Given the description of an element on the screen output the (x, y) to click on. 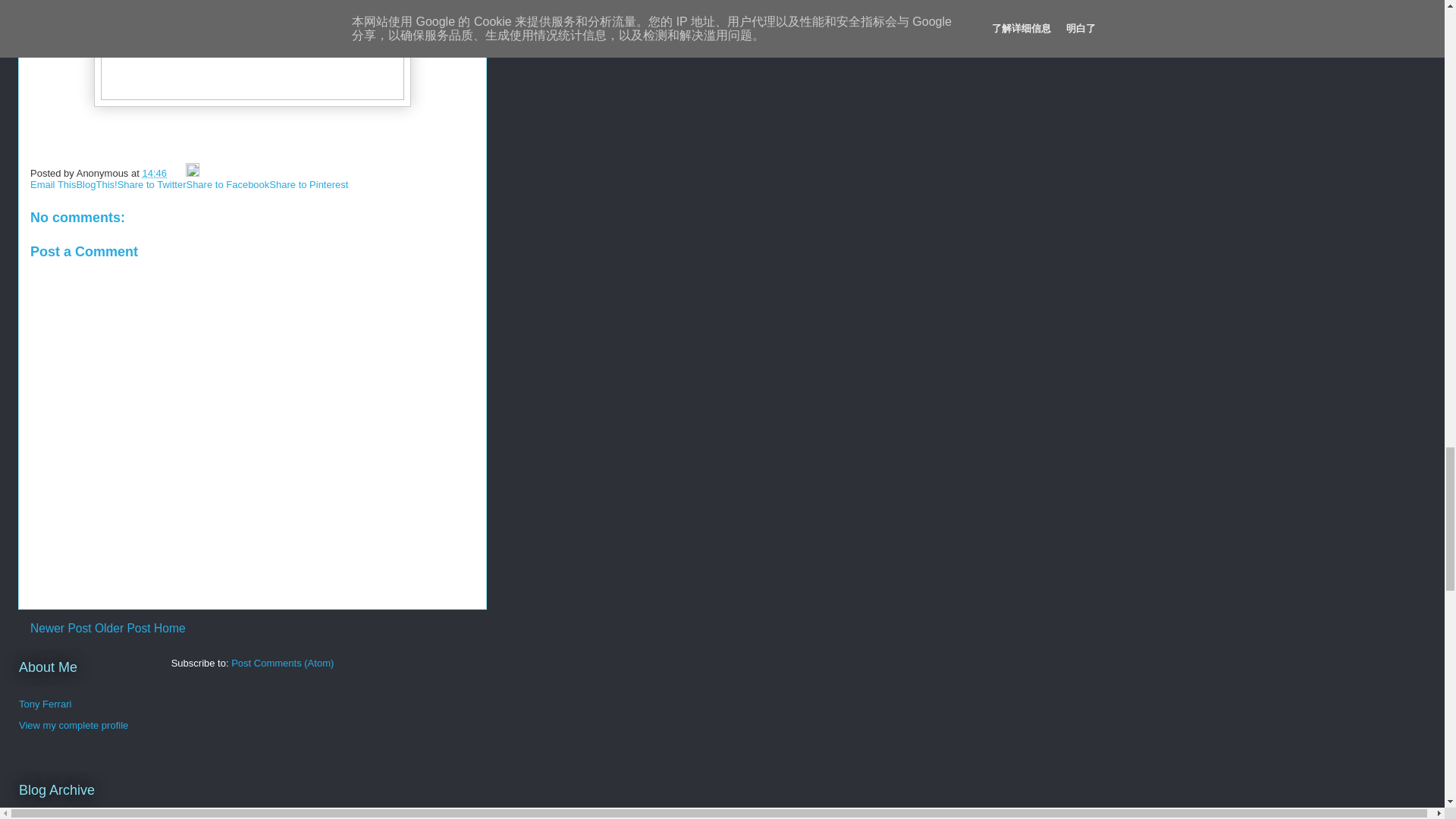
Share to Pinterest (308, 184)
2023 (46, 813)
Email Post (178, 173)
Share to Twitter (151, 184)
Email This (52, 184)
Email This (52, 184)
Share to Twitter (151, 184)
Share to Facebook (227, 184)
Tony Ferrari (44, 704)
Share to Facebook (227, 184)
Edit Post (192, 173)
View my complete profile (73, 725)
BlogThis! (95, 184)
BlogThis! (95, 184)
14:46 (154, 173)
